Given the description of an element on the screen output the (x, y) to click on. 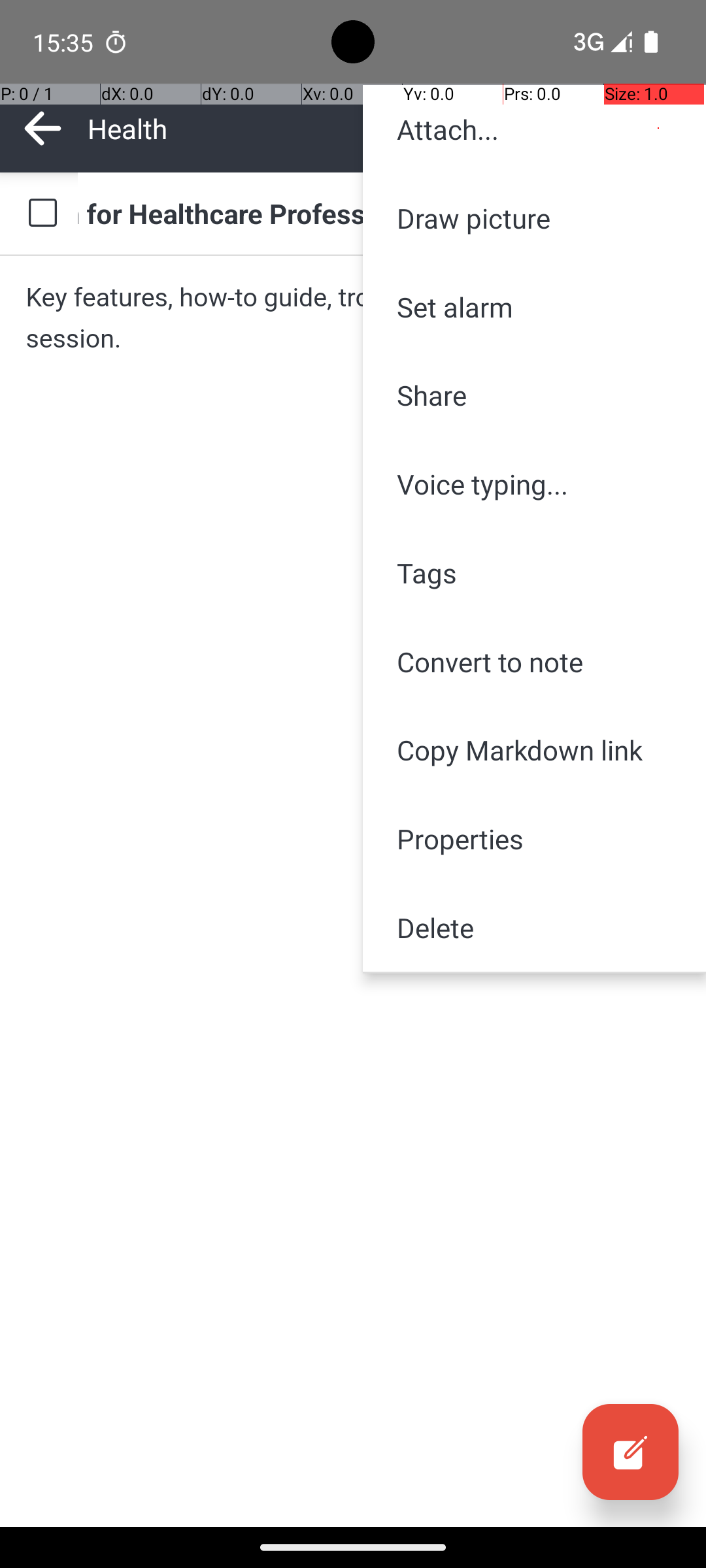
Training Session - New SNew Software Training Session for Healthcare Professionals - March 15, 2024oftware - March 7, 2024 Element type: android.widget.EditText (378, 213)
Key features, how-to guide, troubleshooting tips, Q&A session. Element type: android.widget.TextView (352, 317)
